Given the description of an element on the screen output the (x, y) to click on. 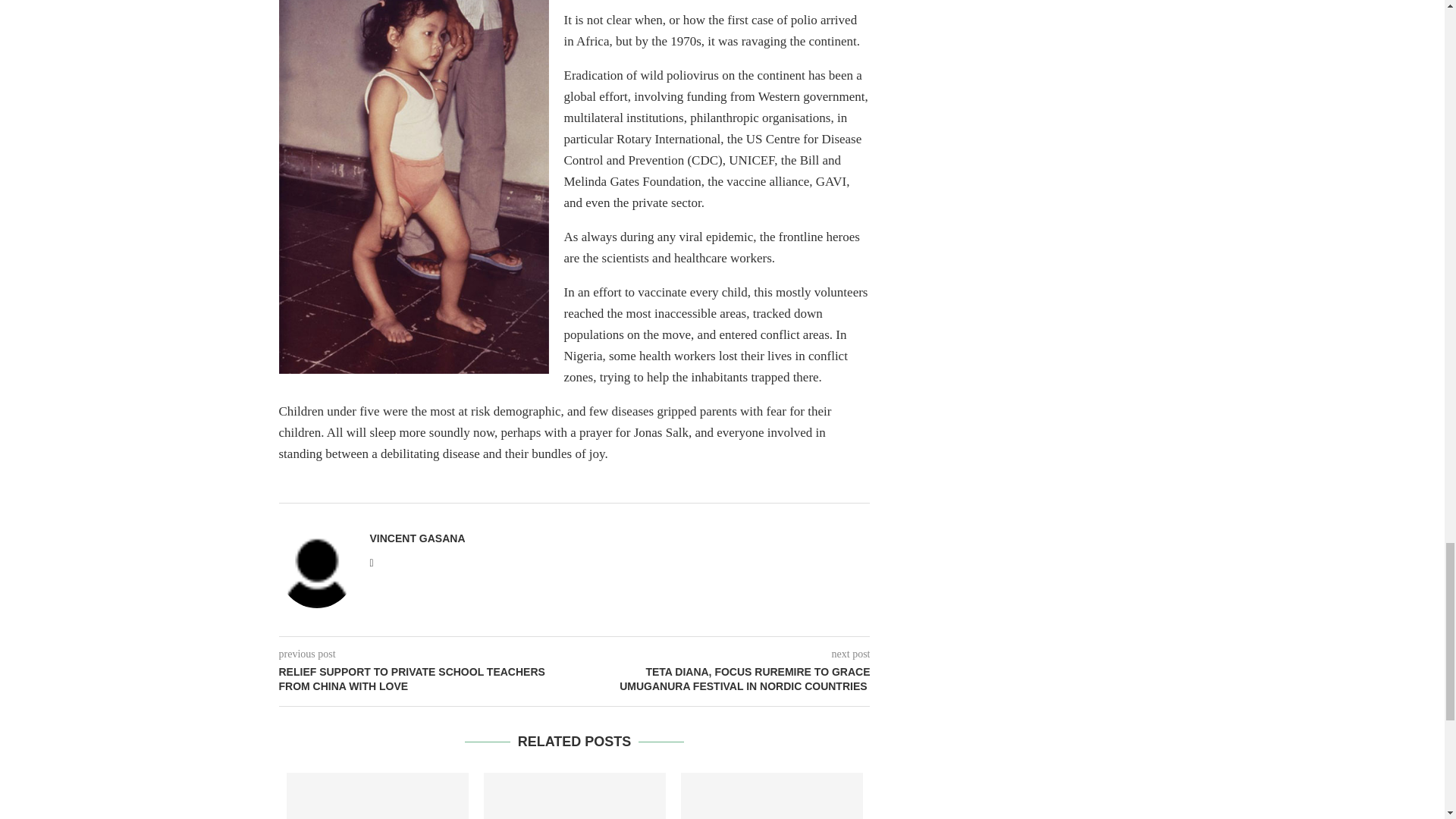
Author Vincent Gasana (417, 538)
VINCENT GASANA (417, 538)
